Given the description of an element on the screen output the (x, y) to click on. 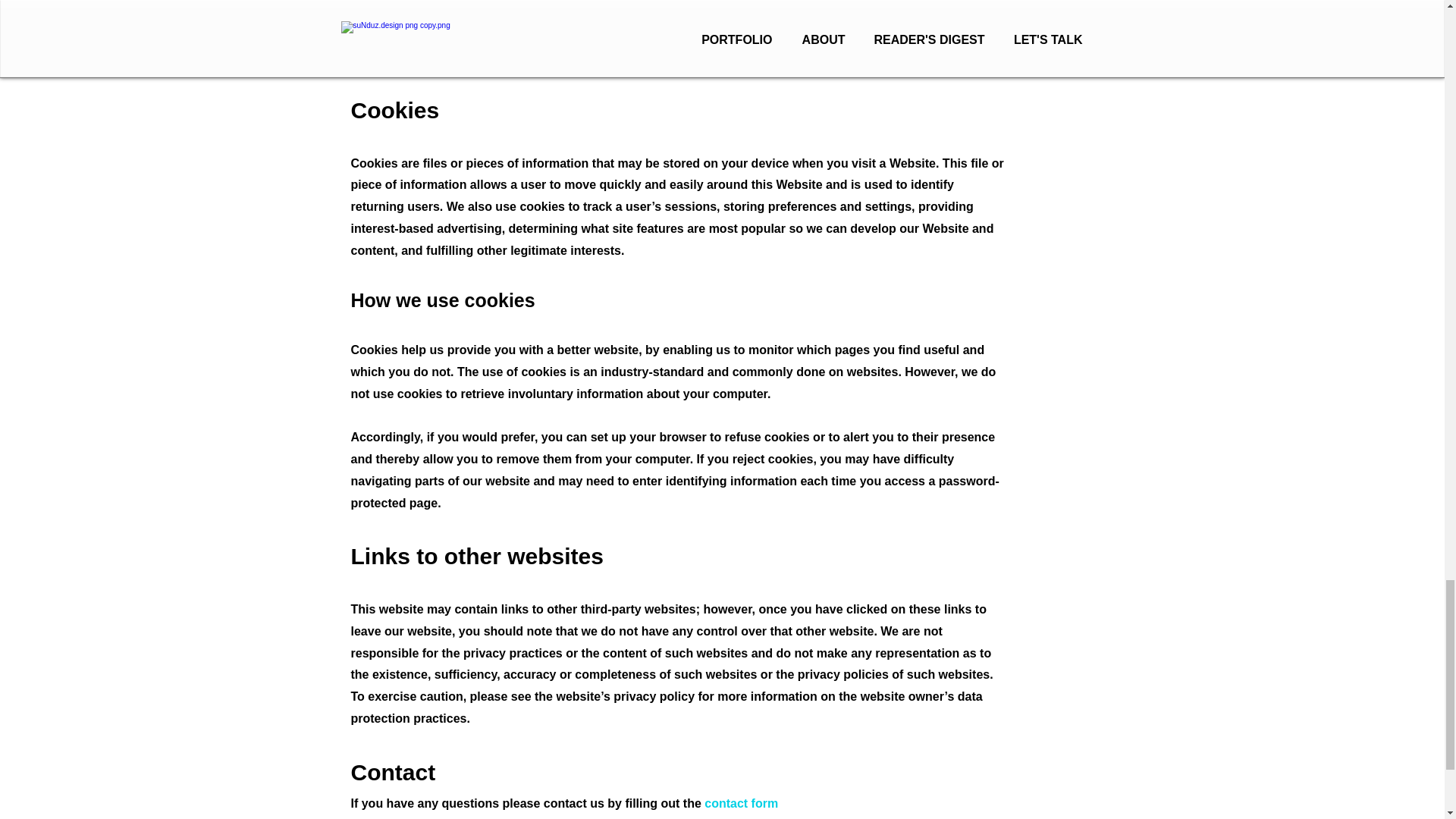
contact form (740, 802)
